Given the description of an element on the screen output the (x, y) to click on. 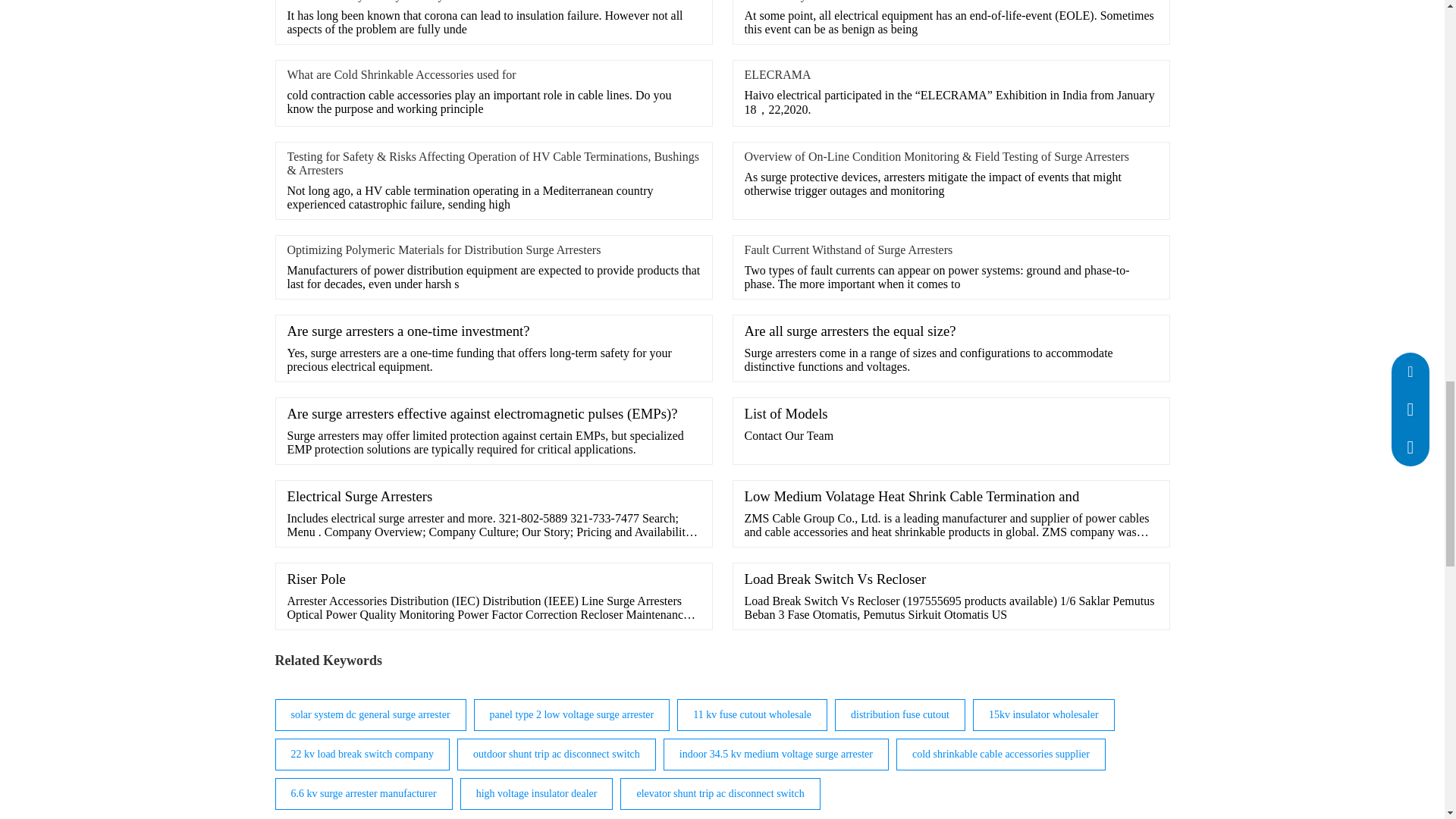
distribution fuse cutout (899, 714)
indoor 34.5 kv medium voltage surge arrester (775, 754)
22 kv load break switch company (362, 754)
11 kv fuse cutout wholesale (751, 714)
15kv insulator wholesaler (1043, 714)
elevator shunt trip ac disconnect switch (719, 793)
panel type 2 low voltage surge arrester (571, 714)
outdoor shunt trip ac disconnect switch (556, 754)
6.6 kv surge arrester manufacturer (363, 793)
high voltage insulator dealer (536, 793)
solar system dc general surge arrester (370, 714)
cold shrinkable cable accessories supplier (1000, 754)
